Given the description of an element on the screen output the (x, y) to click on. 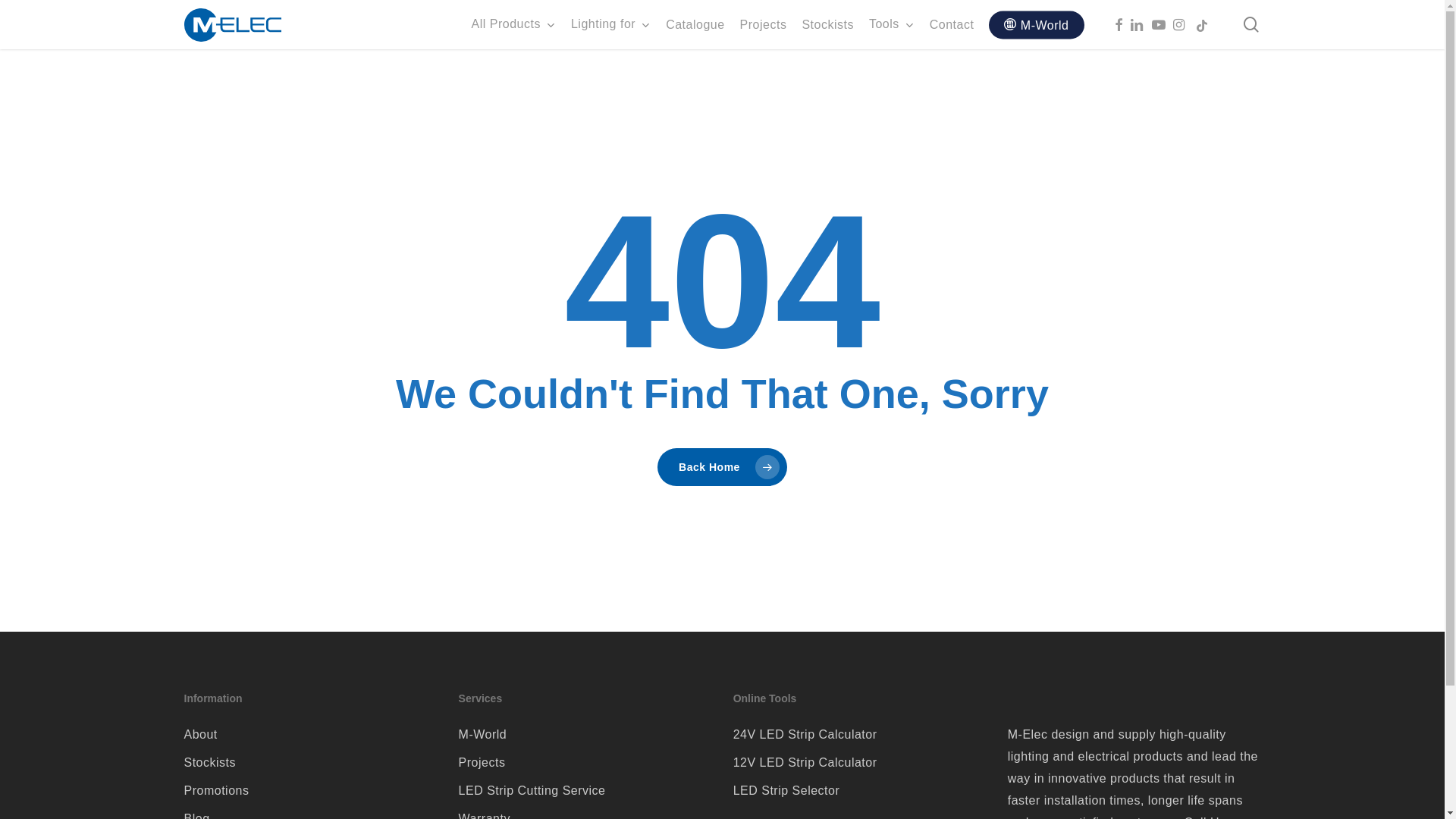
Back Home Element type: text (722, 467)
Lighting for Element type: text (610, 24)
LED Strip Cutting Service Element type: text (585, 790)
Catalogue Element type: text (694, 24)
About Element type: text (309, 734)
All Products Element type: text (513, 24)
Tools Element type: text (891, 24)
Projects Element type: text (585, 762)
linkedin Element type: text (1140, 24)
youtube Element type: text (1162, 24)
search Element type: text (1251, 24)
instagram Element type: text (1182, 24)
12V LED Strip Calculator Element type: text (859, 762)
24V LED Strip Calculator Element type: text (859, 734)
M-World Element type: text (585, 734)
LED Strip Selector Element type: text (859, 790)
M-World Element type: text (1035, 24)
Projects Element type: text (763, 24)
tiktok Element type: text (1205, 24)
Promotions Element type: text (309, 790)
Stockists Element type: text (827, 24)
facebook Element type: text (1122, 24)
Contact Element type: text (952, 24)
Stockists Element type: text (309, 762)
